Given the description of an element on the screen output the (x, y) to click on. 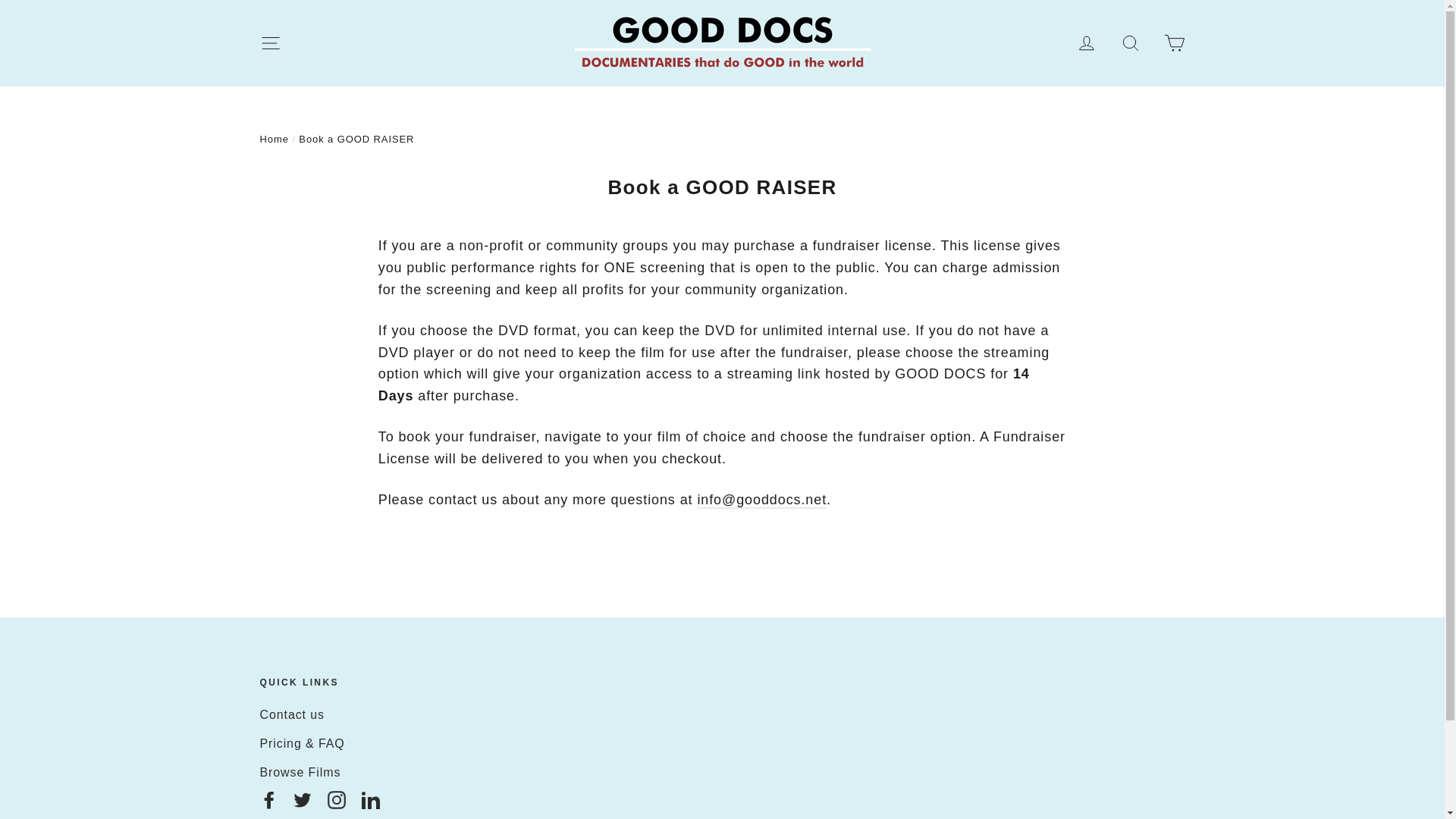
Search (1130, 42)
Site navigation (269, 42)
Back to the frontpage (273, 138)
Log in (1086, 42)
